Given the description of an element on the screen output the (x, y) to click on. 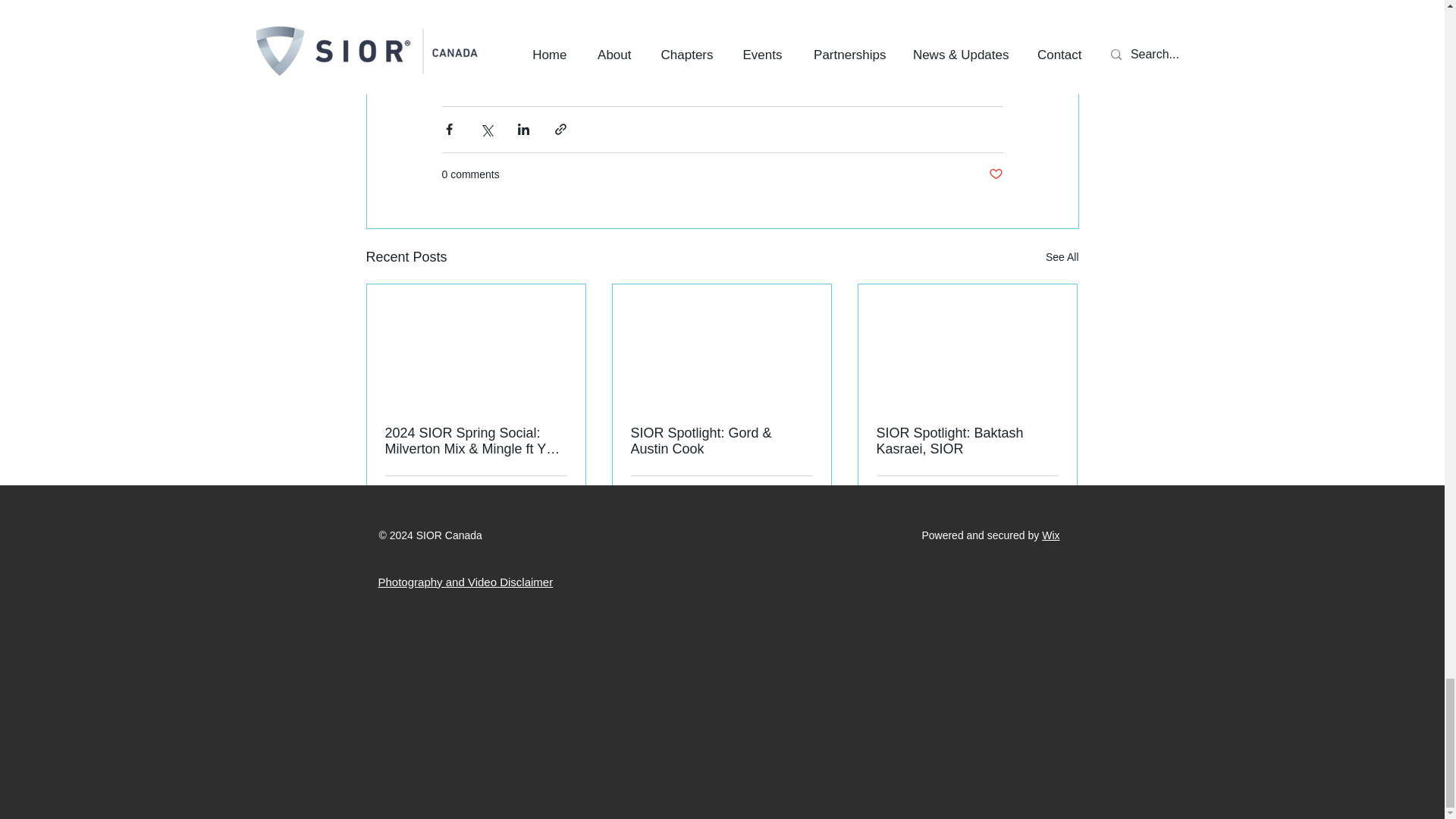
Real Estate Trends (496, 71)
See All (1061, 257)
Leasing (585, 71)
Post not marked as liked (995, 174)
